Given the description of an element on the screen output the (x, y) to click on. 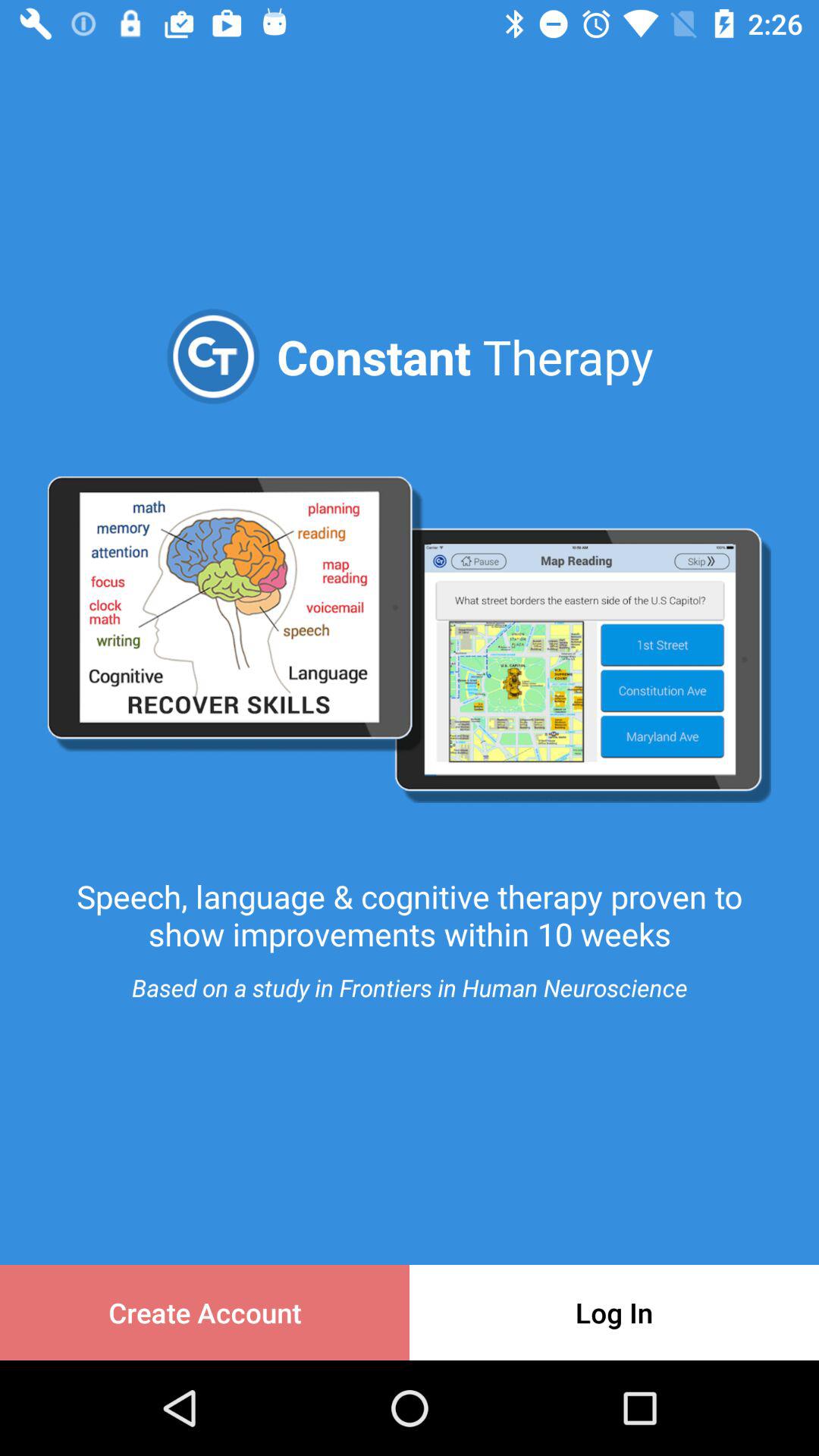
turn off the icon next to create account item (614, 1312)
